Given the description of an element on the screen output the (x, y) to click on. 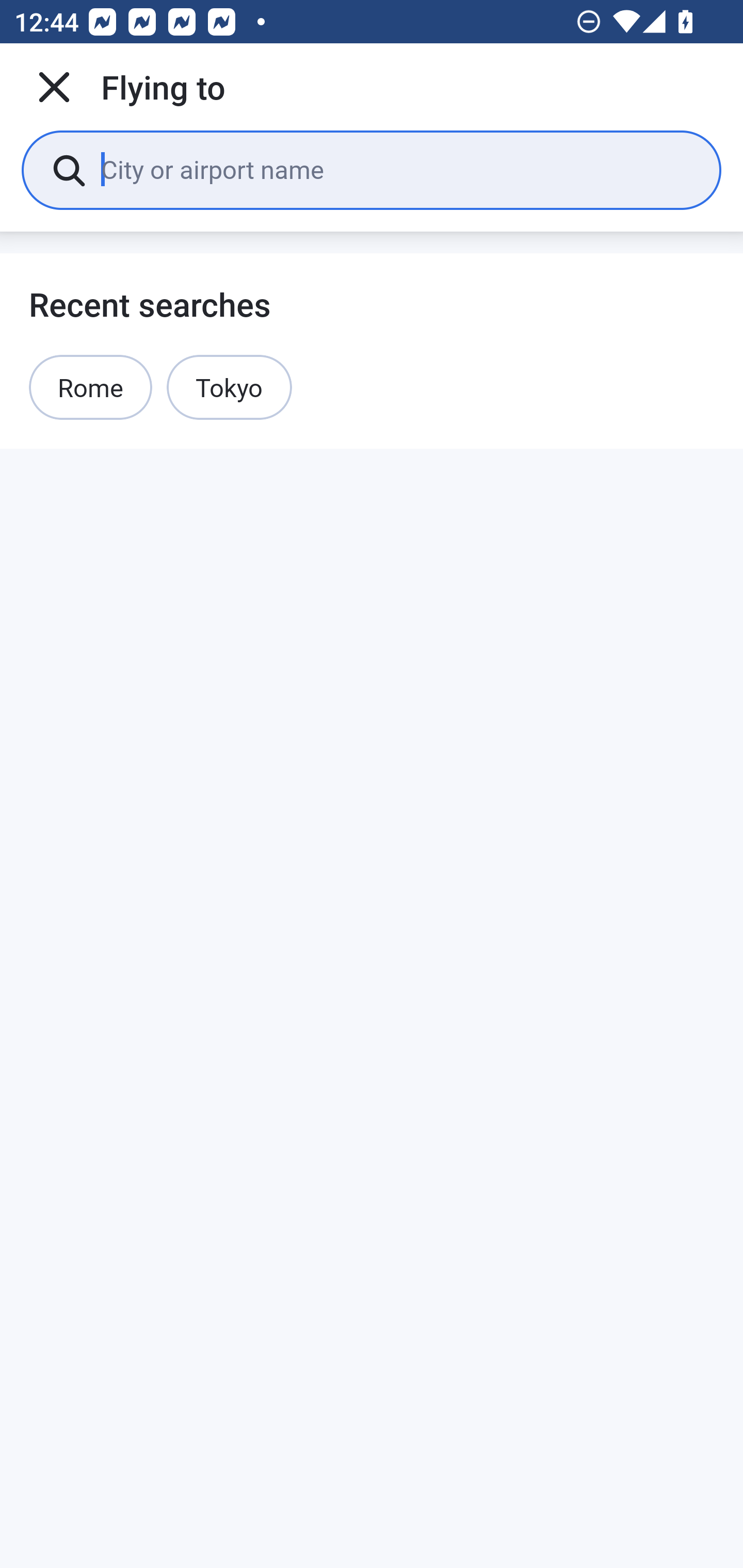
City or airport name (396, 169)
Rome (90, 387)
Tokyo (228, 387)
